Given the description of an element on the screen output the (x, y) to click on. 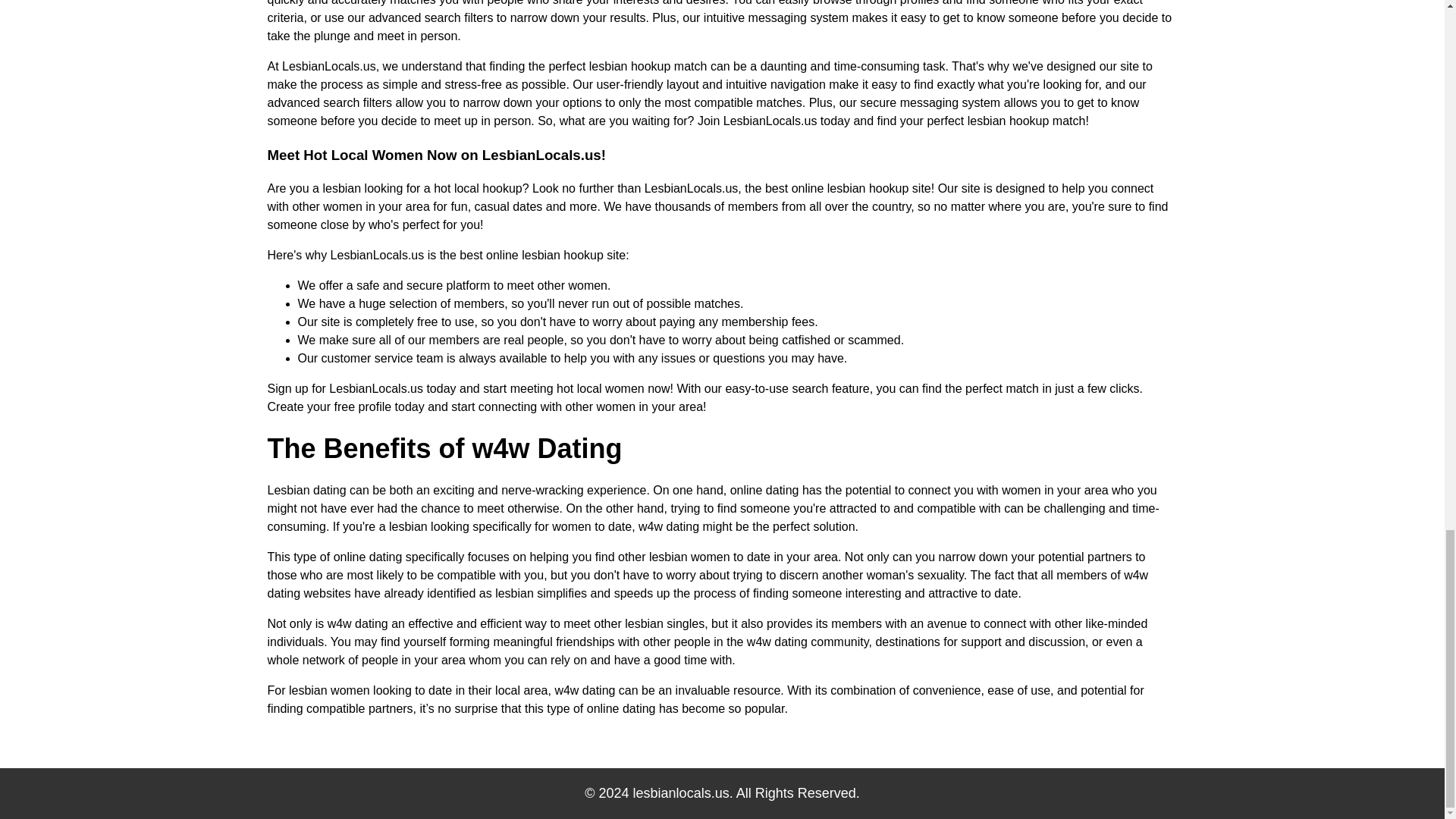
lesbianlocals.us (681, 792)
